Given the description of an element on the screen output the (x, y) to click on. 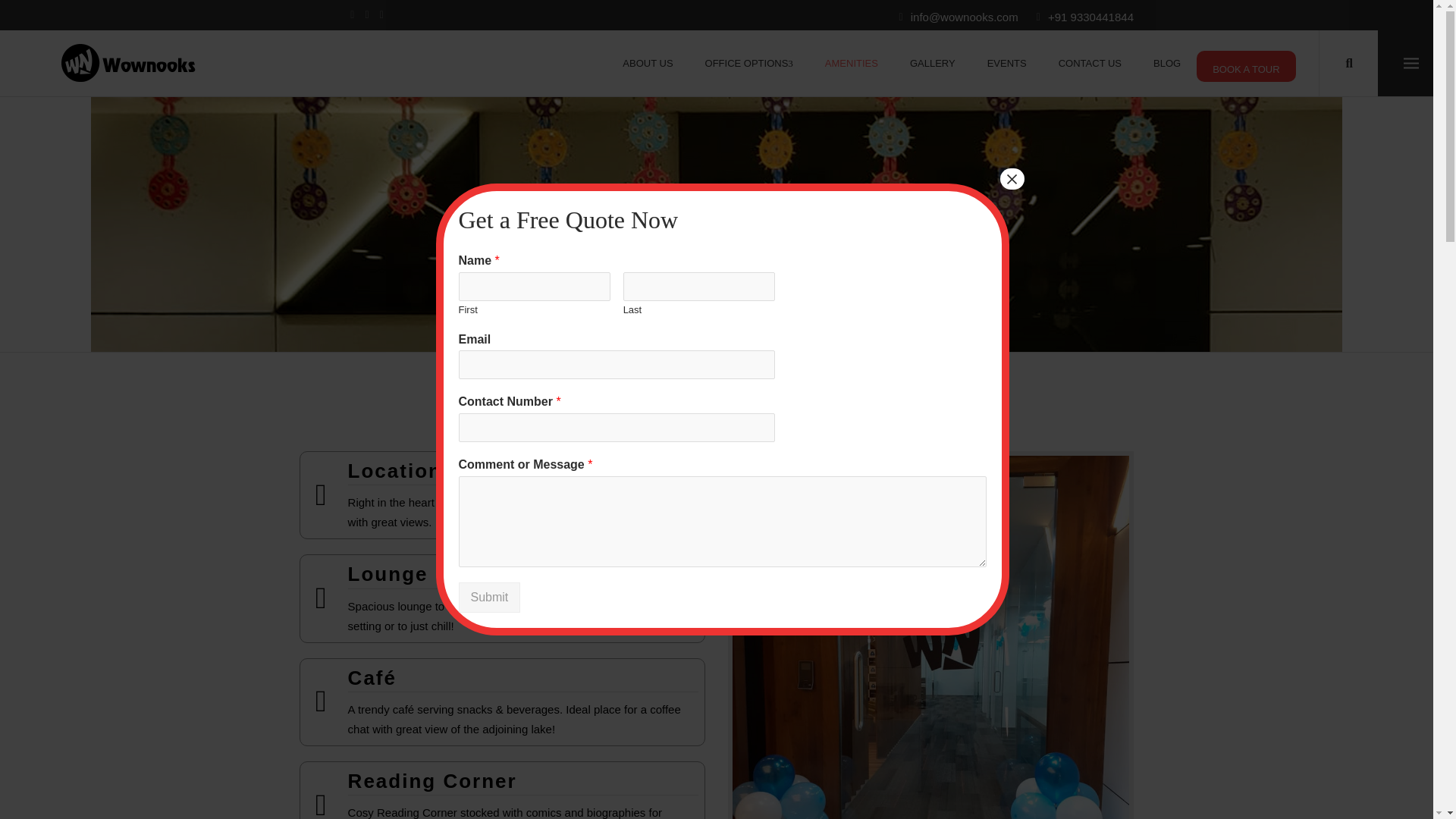
ABOUT US (647, 63)
BLOG (1166, 63)
GALLERY (932, 63)
EVENTS (1006, 63)
OFFICE OPTIONS (748, 63)
CONTACT US (1089, 63)
AMENITIES (851, 63)
BOOK A TOUR (1245, 65)
